Given the description of an element on the screen output the (x, y) to click on. 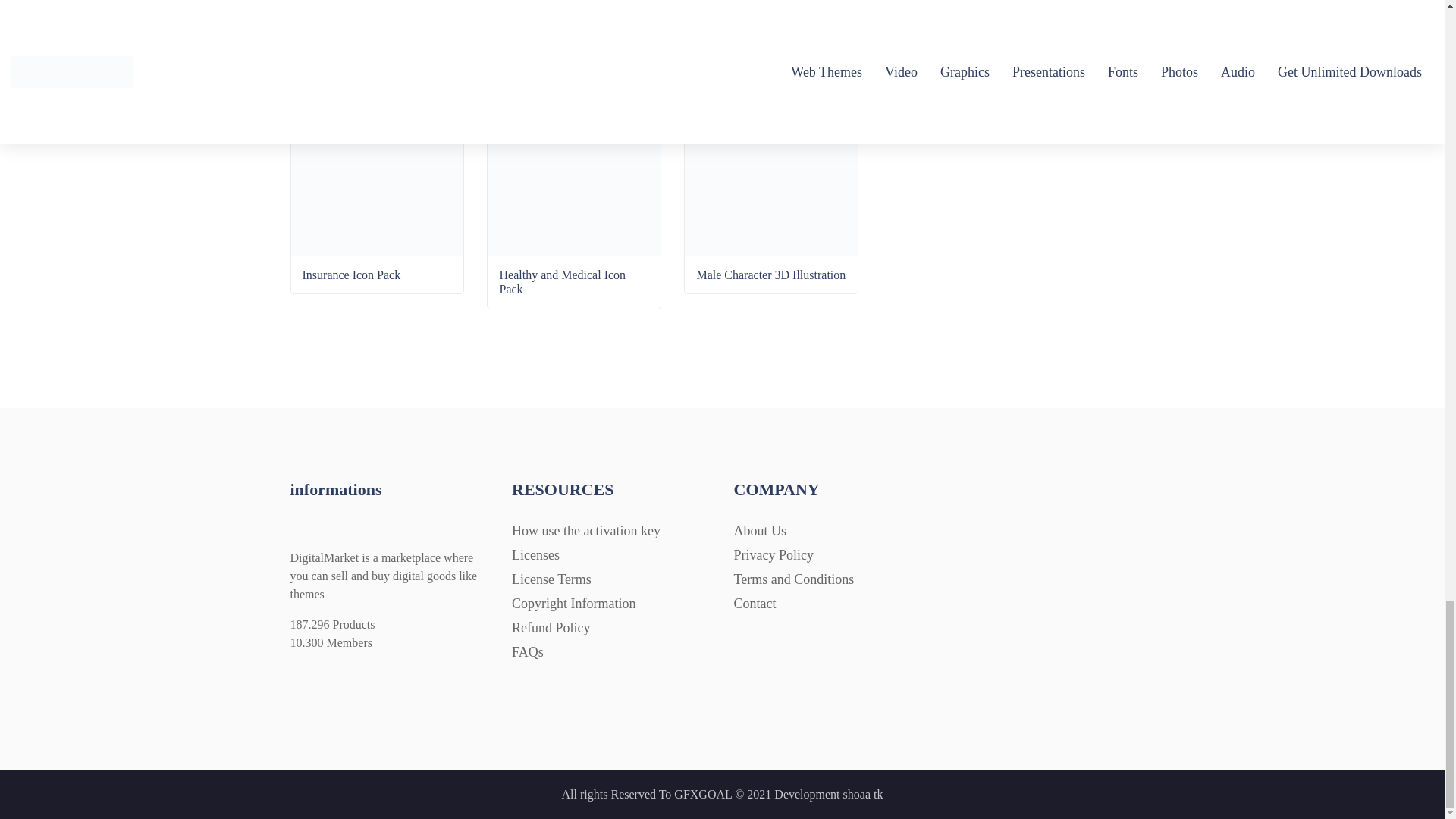
Healthy and Medical Icon Pack (574, 249)
Insurance Icon Pack (377, 242)
Male Character 3D Illustration (770, 242)
